Given the description of an element on the screen output the (x, y) to click on. 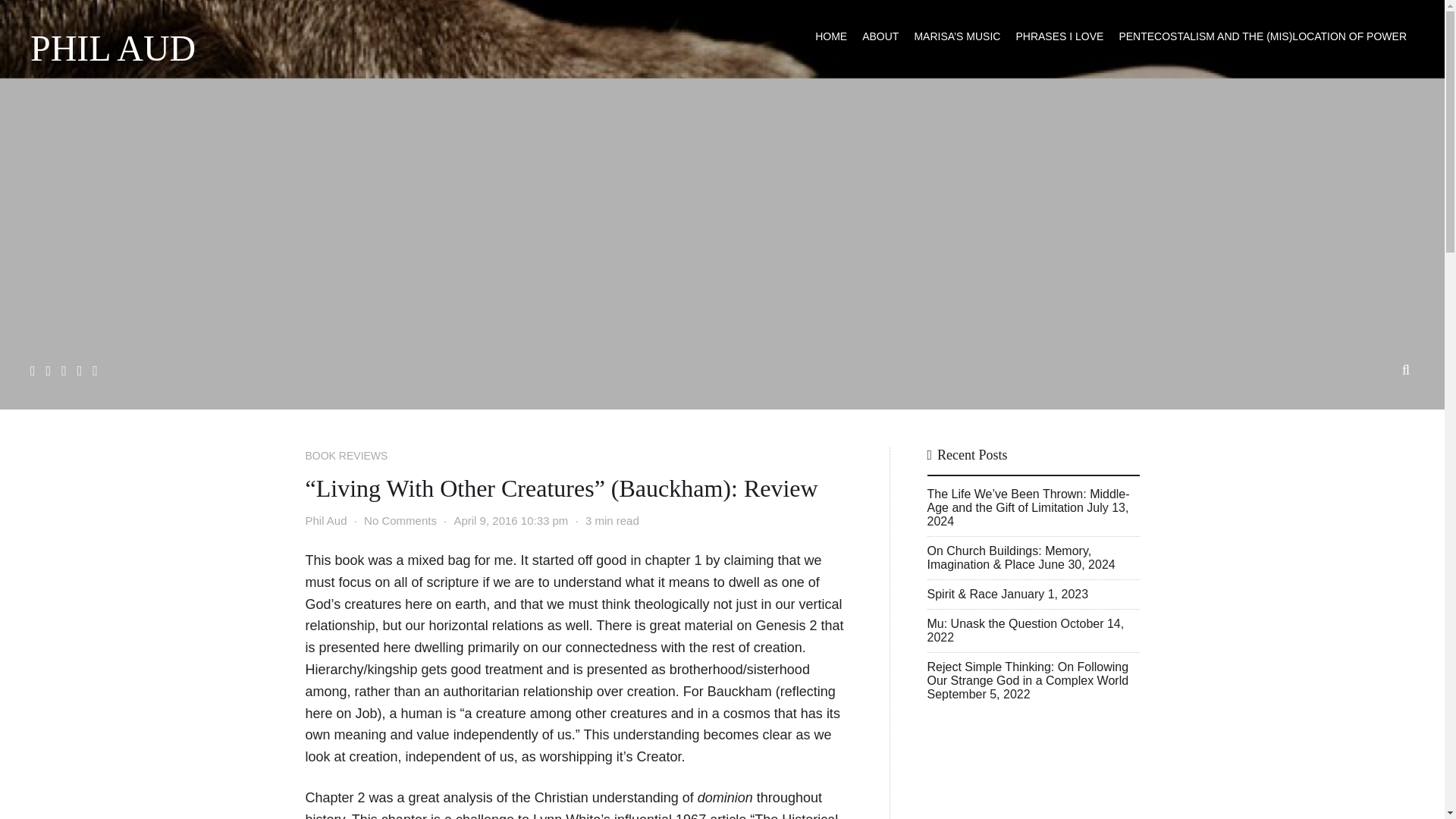
Posts by Phil Aud (325, 520)
BOOK REVIEWS (345, 455)
HOME (831, 36)
PHRASES I LOVE (1058, 36)
Mu: Unask the Question (991, 623)
PHIL AUD (112, 48)
April 9, 2016 10:33 pm (509, 520)
Home (831, 36)
ABOUT (879, 36)
Phil Aud (325, 520)
No Comments (400, 520)
